Given the description of an element on the screen output the (x, y) to click on. 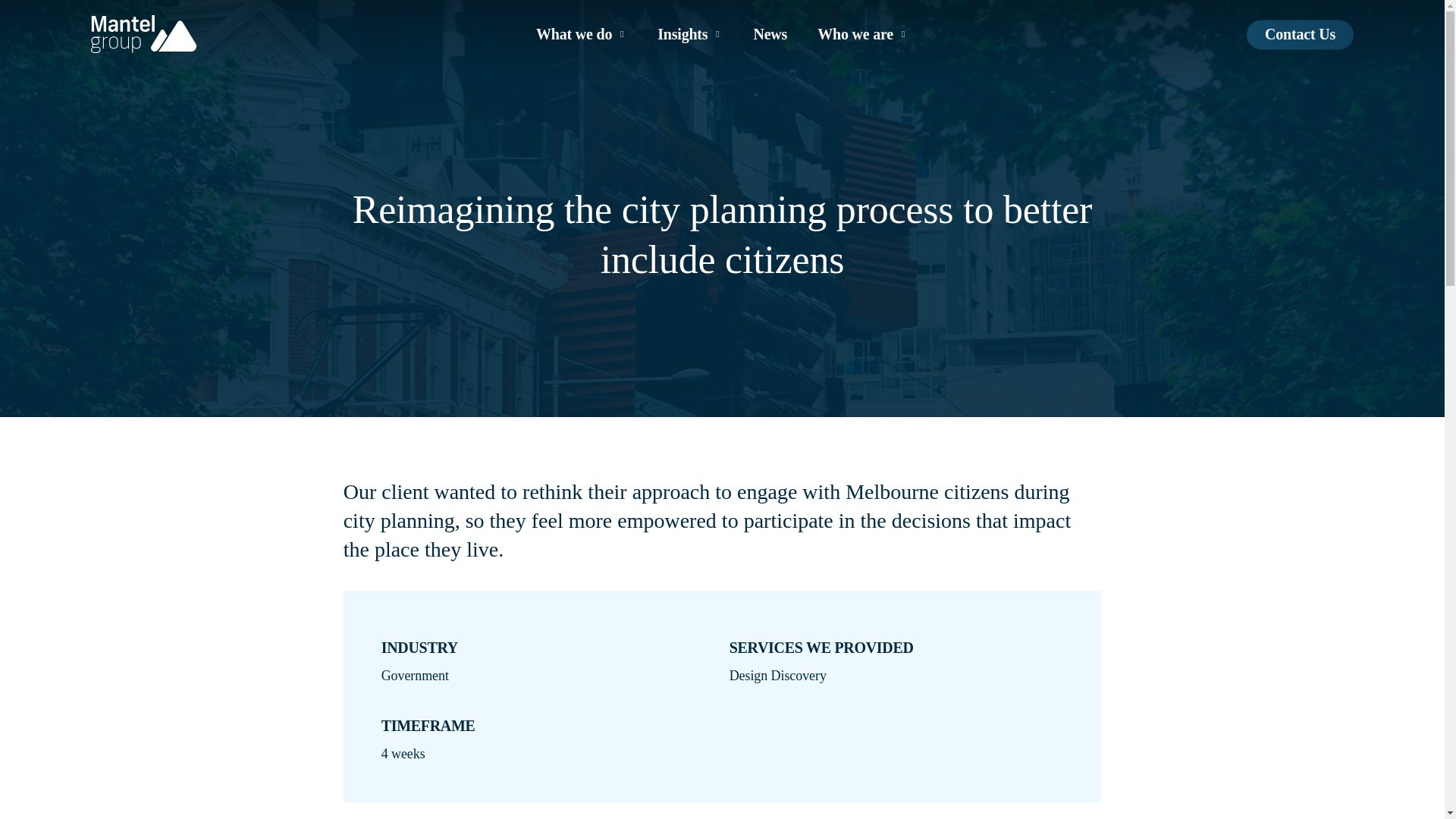
News (769, 34)
Who we are (862, 34)
What we do (581, 34)
Insights (690, 34)
Contact Us (1300, 34)
